Given the description of an element on the screen output the (x, y) to click on. 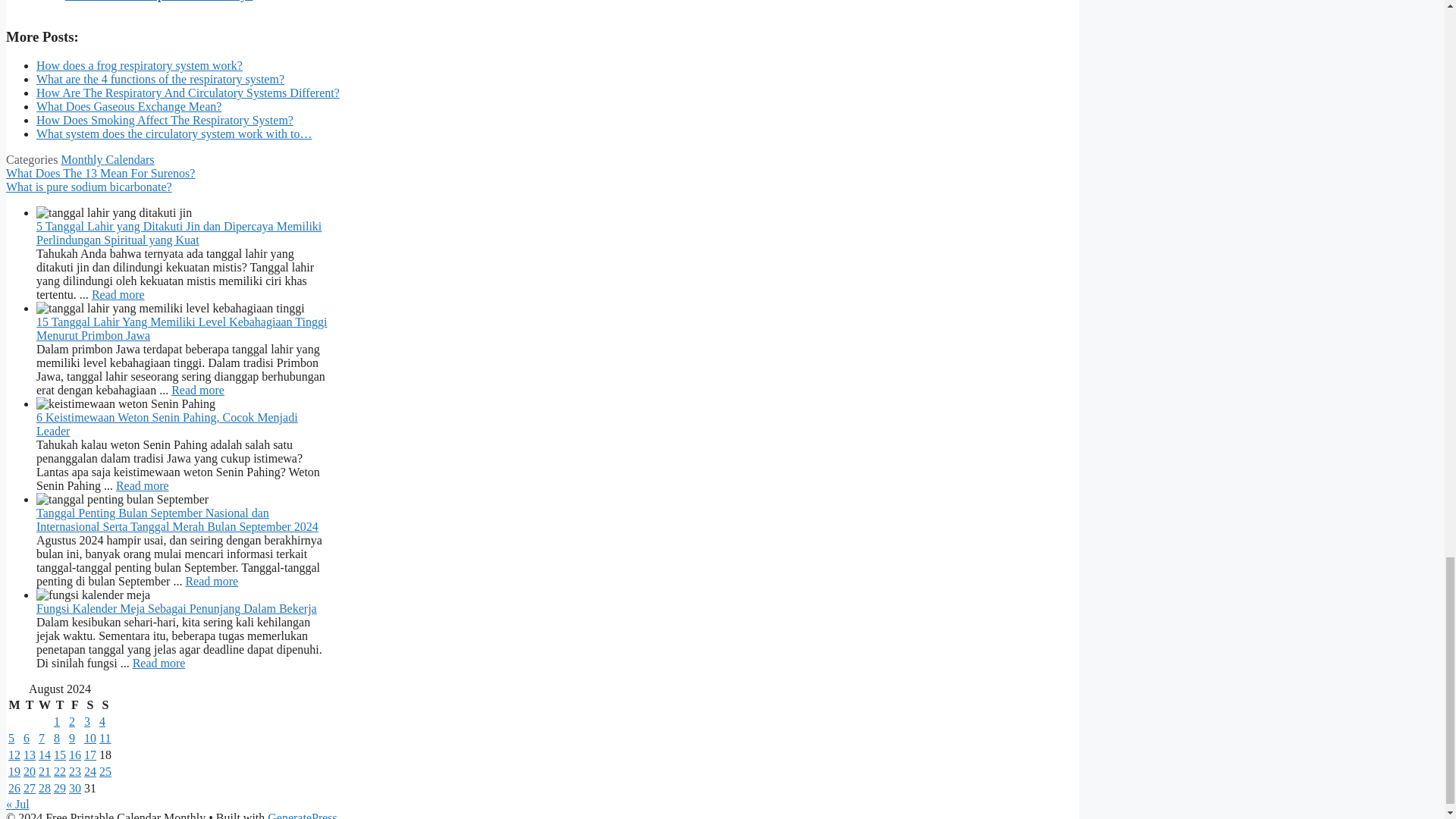
How does a frog respiratory system work? (139, 65)
Monday (14, 704)
Fungsi Kalender Meja Sebagai Penunjang Dalam Bekerja (159, 662)
Tuesday (29, 704)
What are the 4 functions of the respiratory system? (159, 78)
Saturday (89, 704)
Friday (74, 704)
6 Keistimewaan Weton Senin Pahing, Cocok Menjadi Leader (142, 485)
